Given the description of an element on the screen output the (x, y) to click on. 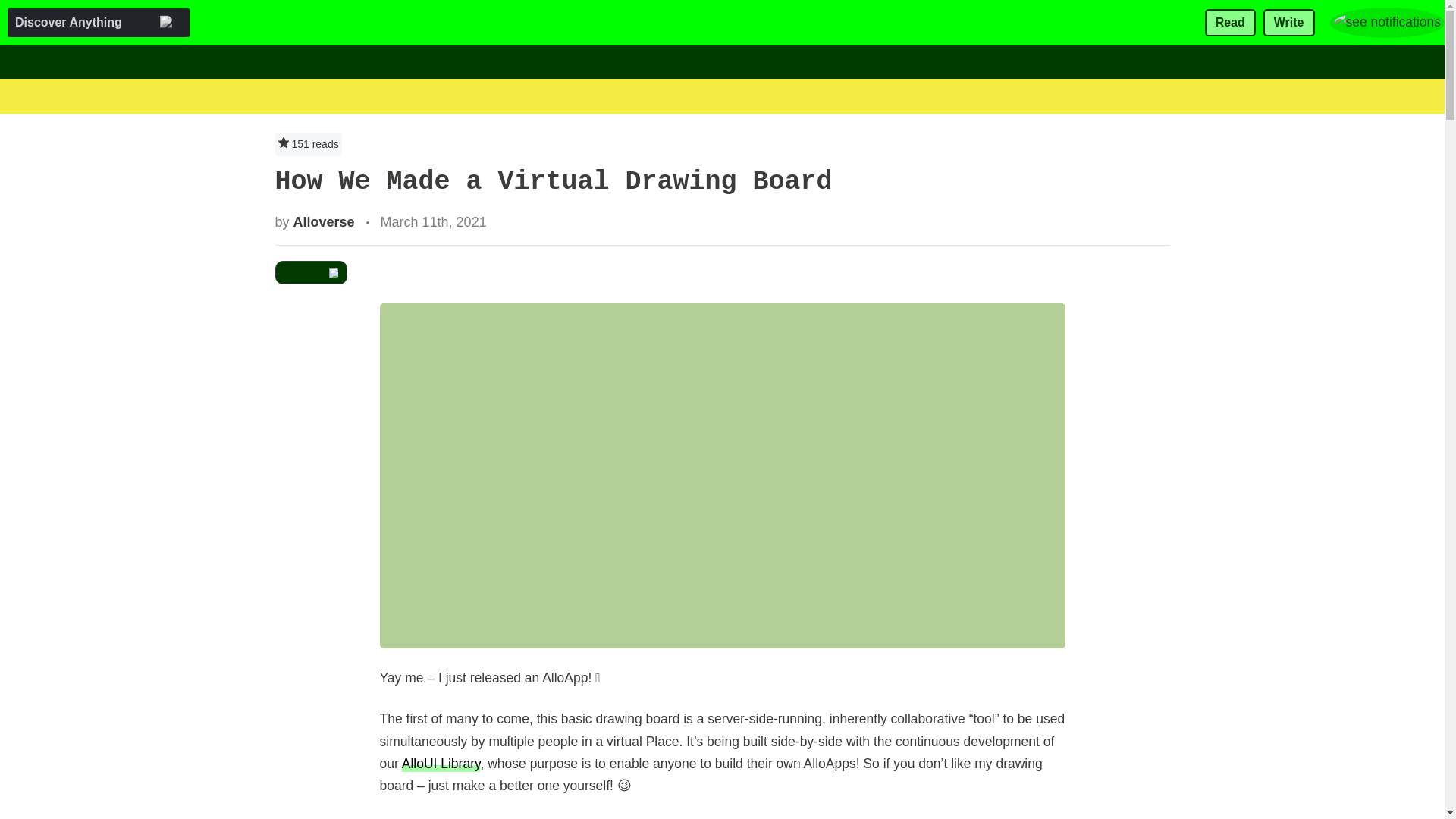
Write (1288, 22)
Alloverse (324, 222)
Read (1230, 22)
AlloUI Library (440, 763)
